Given the description of an element on the screen output the (x, y) to click on. 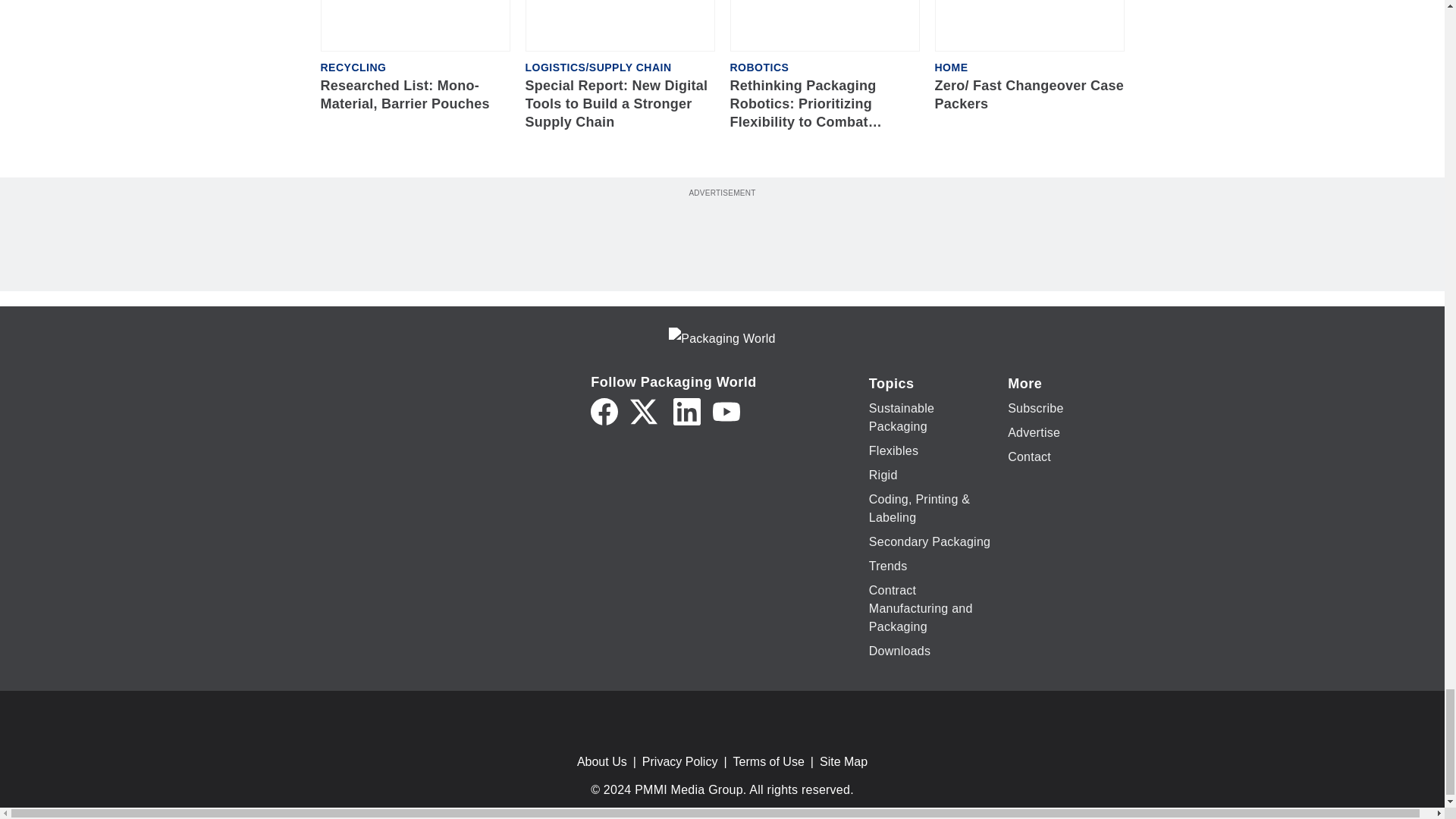
Facebook icon (604, 411)
YouTube icon (726, 411)
Twitter X icon (644, 411)
LinkedIn icon (686, 411)
